Given the description of an element on the screen output the (x, y) to click on. 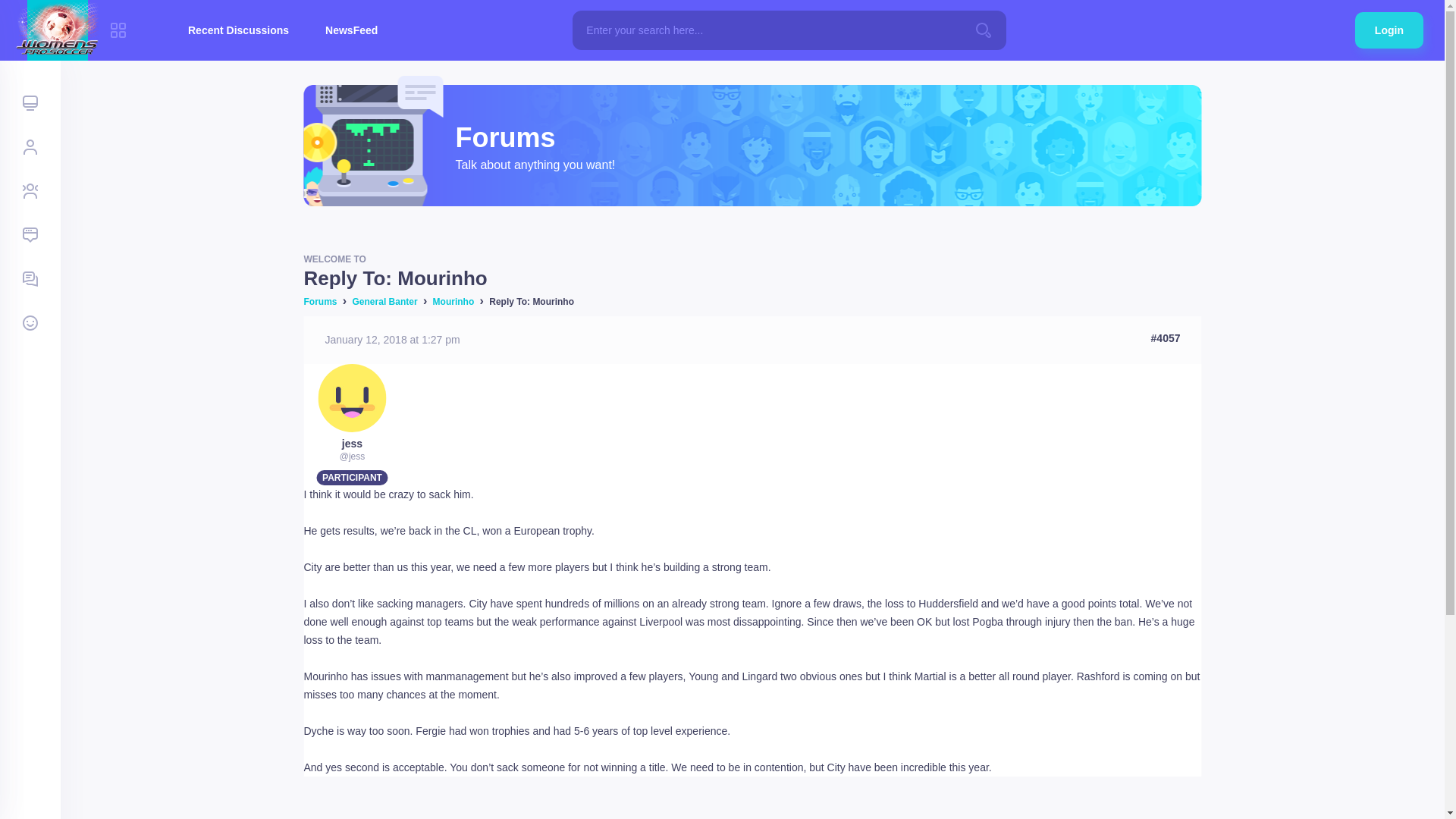
jess (352, 443)
General Banter (384, 301)
Recent Discussions (238, 30)
NewsFeed (351, 30)
Mourinho (453, 301)
Forums (319, 301)
Login (1389, 30)
